Given the description of an element on the screen output the (x, y) to click on. 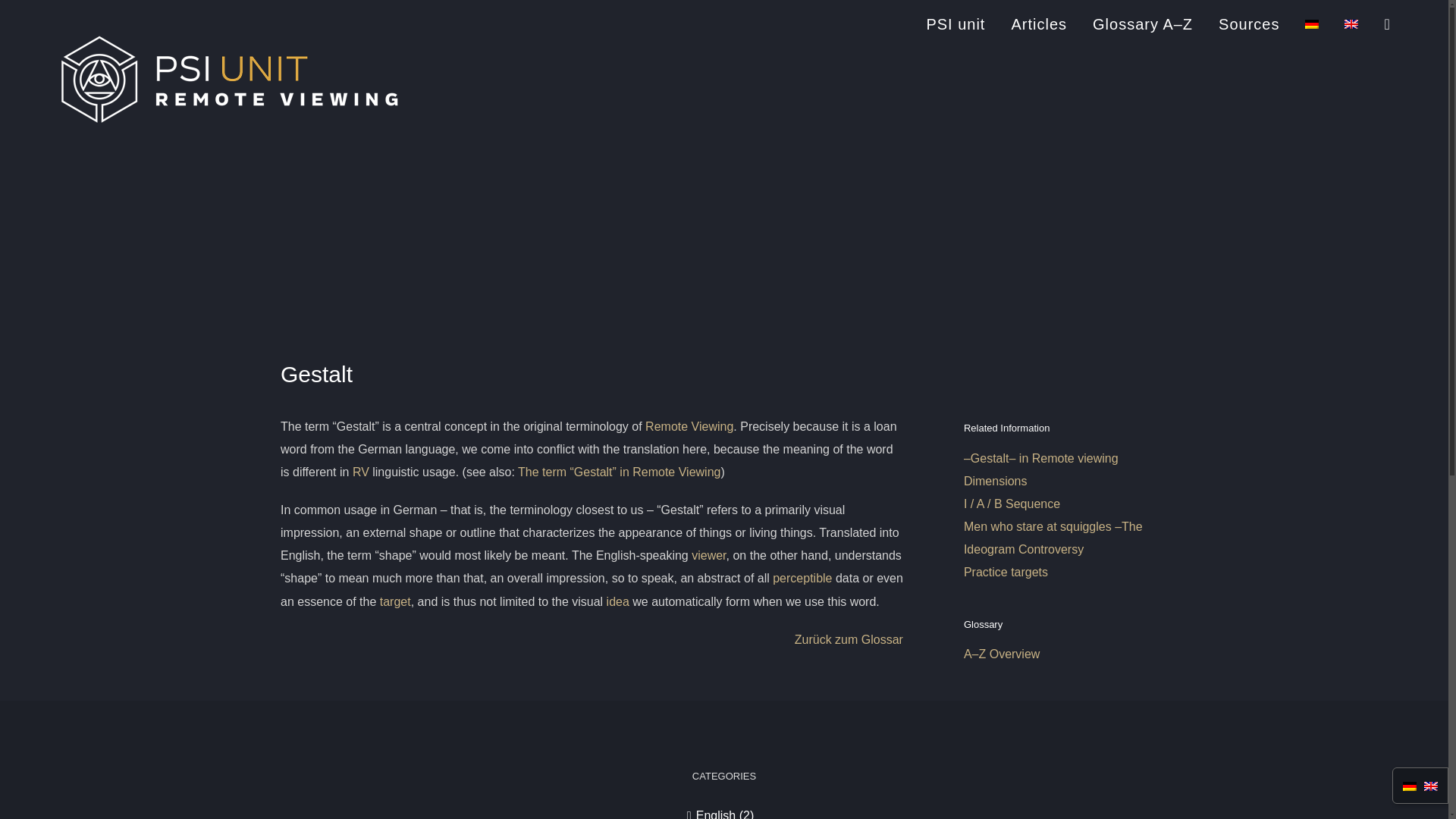
Sources (1248, 22)
Remote Viewing (689, 426)
Articles (1038, 22)
idea (617, 601)
viewer (708, 554)
RV (360, 472)
perceptible (802, 577)
PSI unit (955, 22)
target (395, 601)
Dimensions (995, 481)
Practice targets (1005, 571)
